Given the description of an element on the screen output the (x, y) to click on. 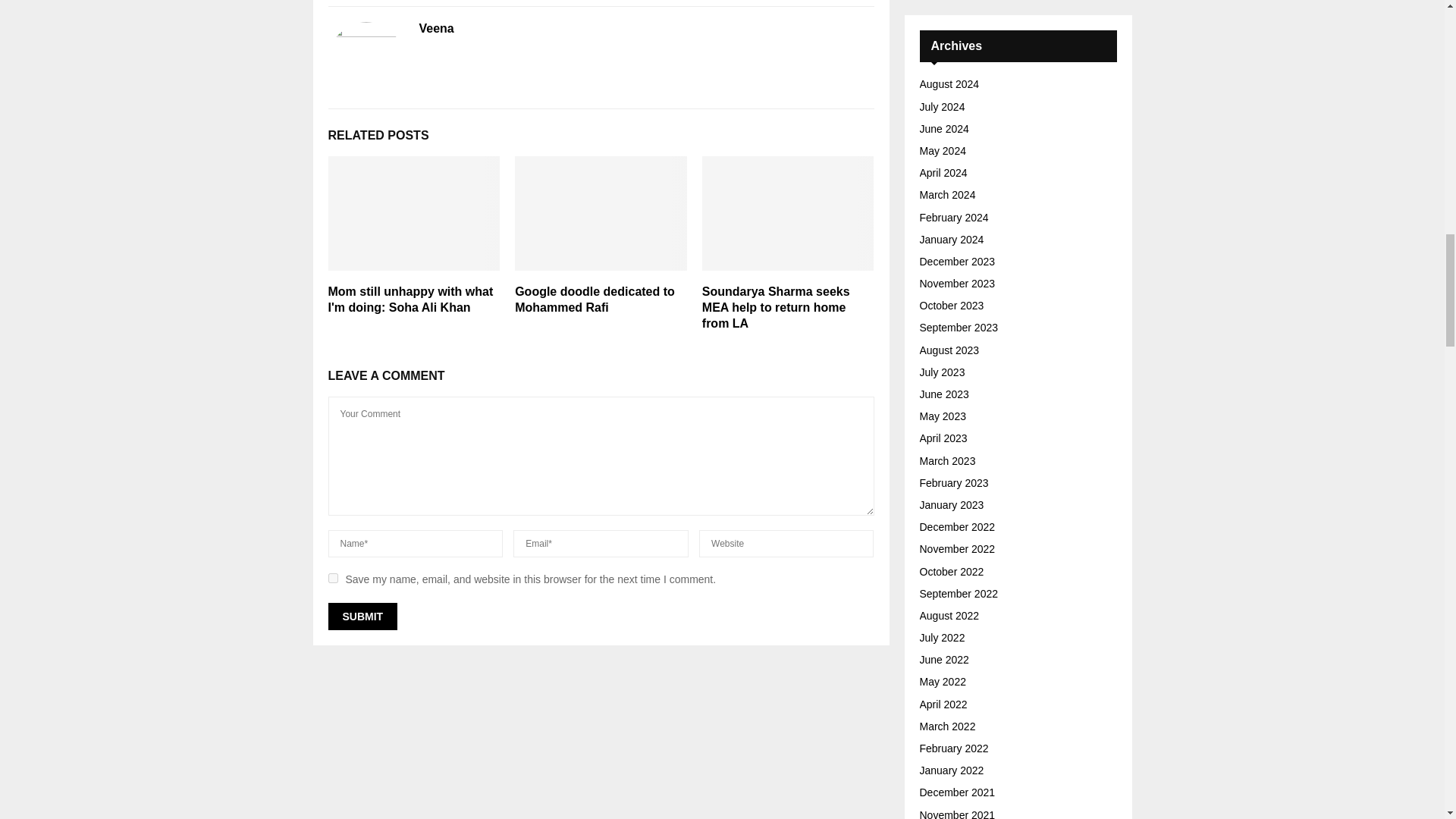
yes (332, 578)
Submit (362, 615)
